Given the description of an element on the screen output the (x, y) to click on. 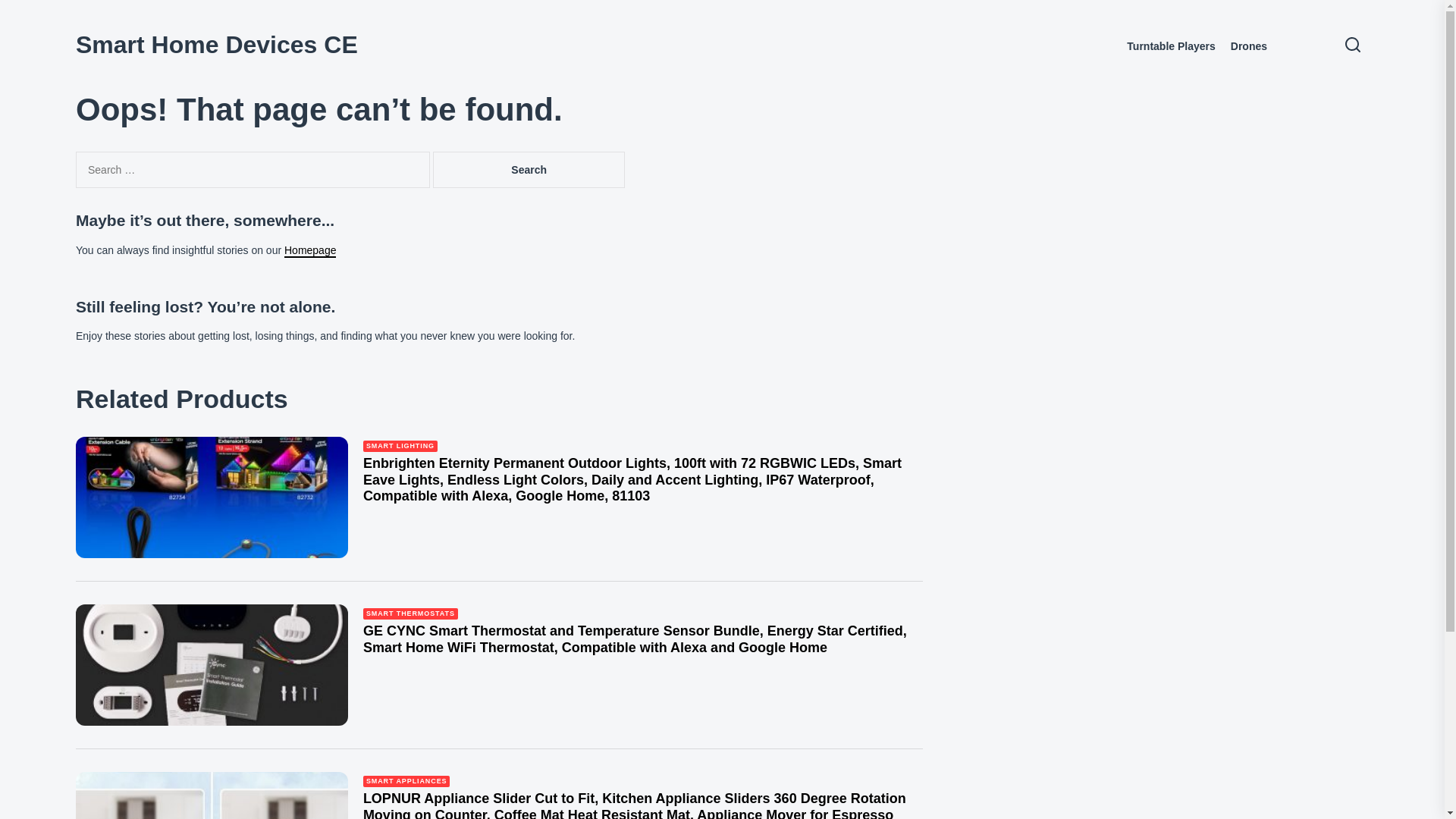
SMART APPLIANCES (405, 781)
Search (529, 169)
Smart Home Devices CE (216, 44)
Search (529, 169)
Turntable Players (1170, 46)
Homepage (309, 250)
SMART LIGHTING (400, 446)
SMART THERMOSTATS (410, 613)
Drones (1248, 46)
